Given the description of an element on the screen output the (x, y) to click on. 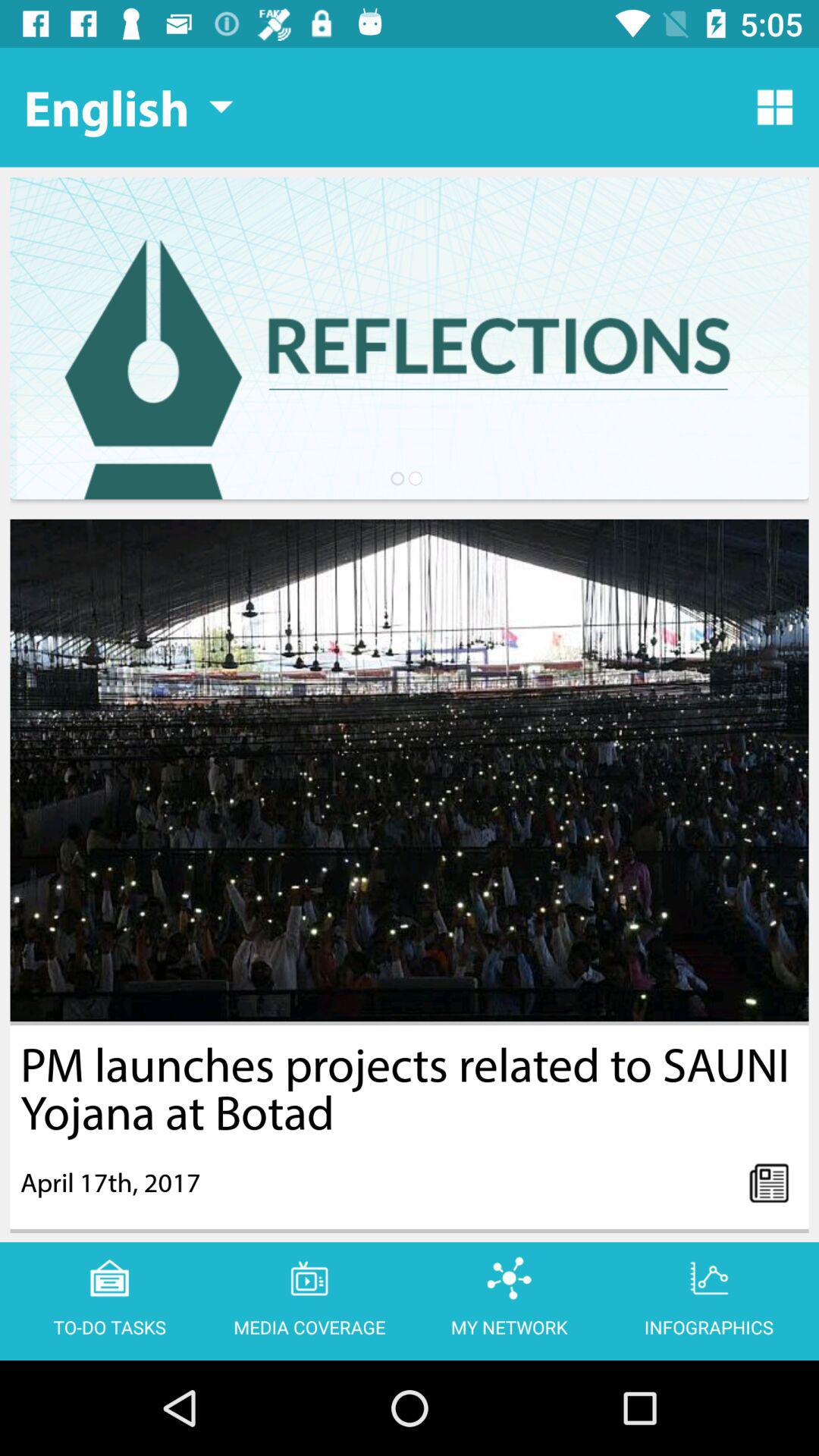
swipe to english item (128, 107)
